Given the description of an element on the screen output the (x, y) to click on. 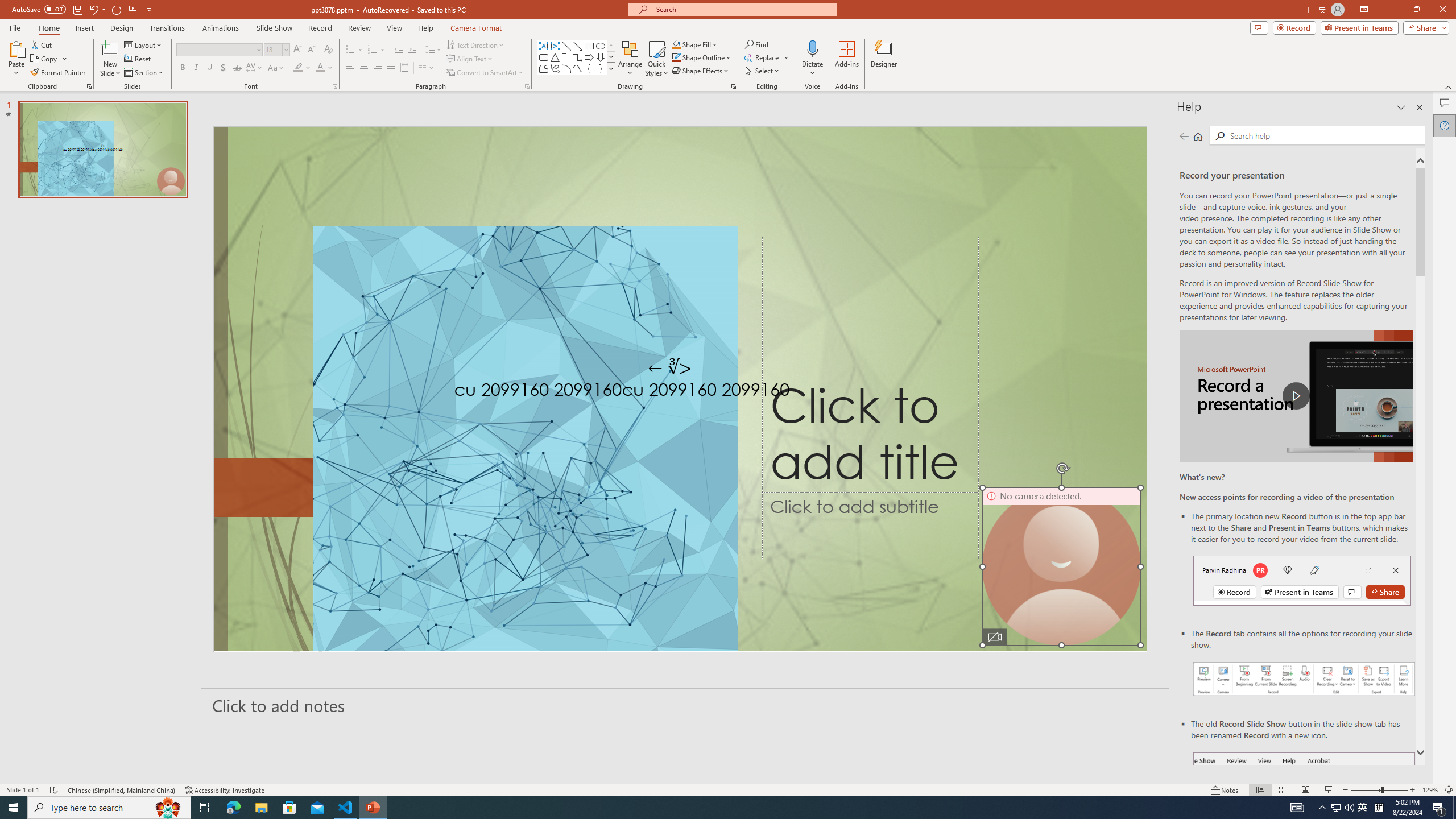
Subtitle TextBox (869, 525)
